Given the description of an element on the screen output the (x, y) to click on. 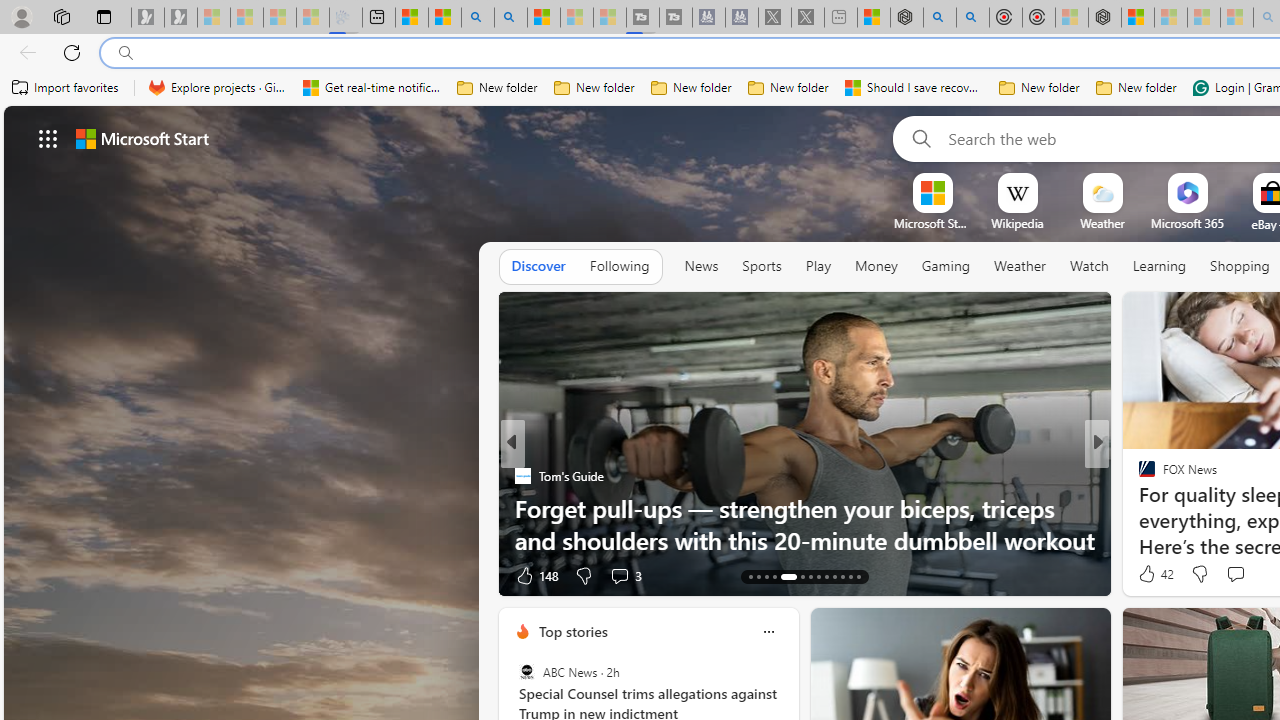
Weather (1019, 267)
View comments 2 Comment (1241, 574)
49 Like (1149, 574)
Nordace - Nordace Siena Is Not An Ordinary Backpack (1105, 17)
New folder (1136, 88)
AutomationID: tab-21 (825, 576)
Should I save recovered Word documents? - Microsoft Support (913, 88)
